Given the description of an element on the screen output the (x, y) to click on. 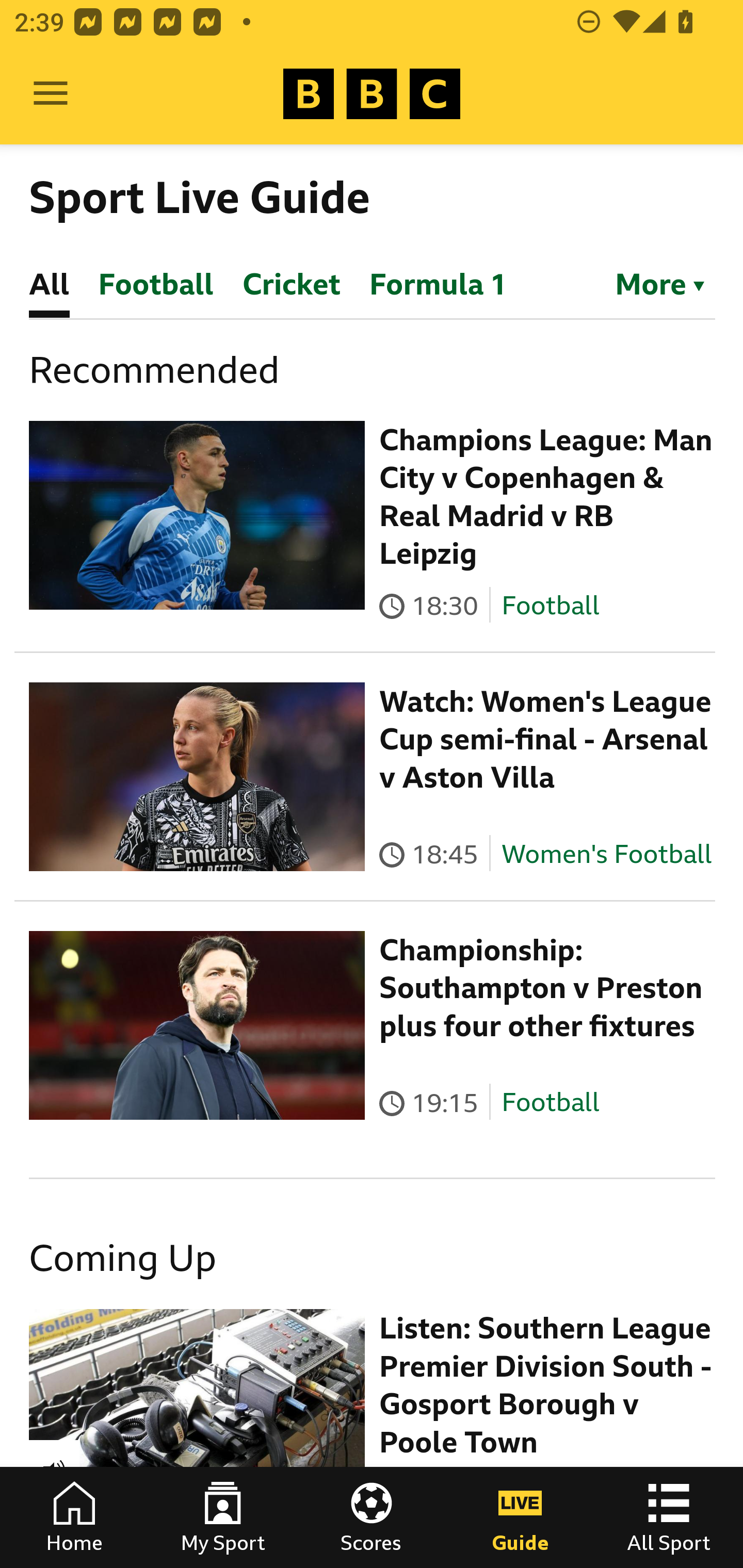
Open Menu (50, 93)
Football (550, 604)
Women's Football (606, 853)
Football (550, 1102)
Home (74, 1517)
My Sport (222, 1517)
Scores (371, 1517)
All Sport (668, 1517)
